Given the description of an element on the screen output the (x, y) to click on. 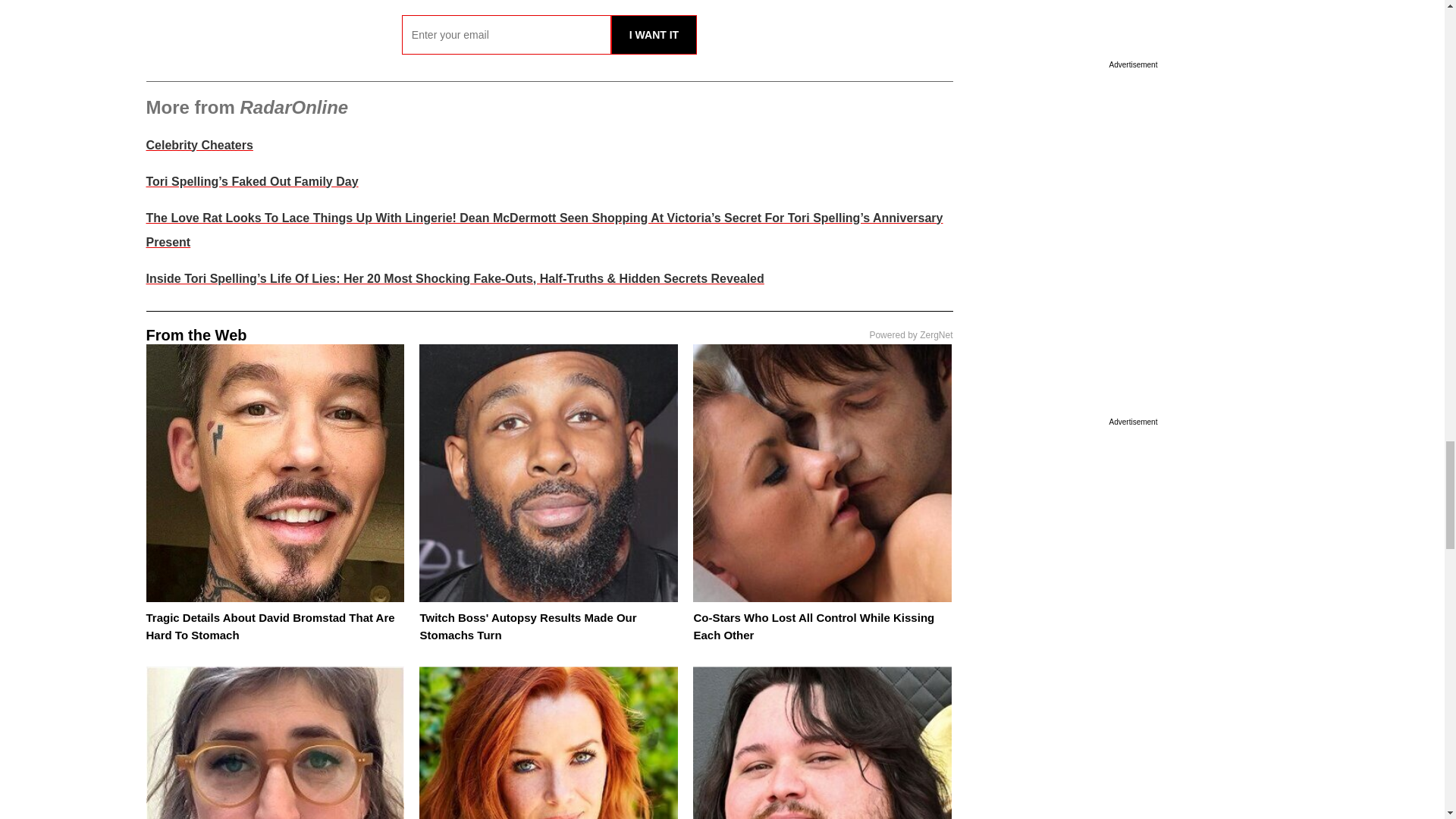
I WANT IT (654, 34)
Celebrity Cheaters (198, 144)
I WANT IT (654, 34)
